Given the description of an element on the screen output the (x, y) to click on. 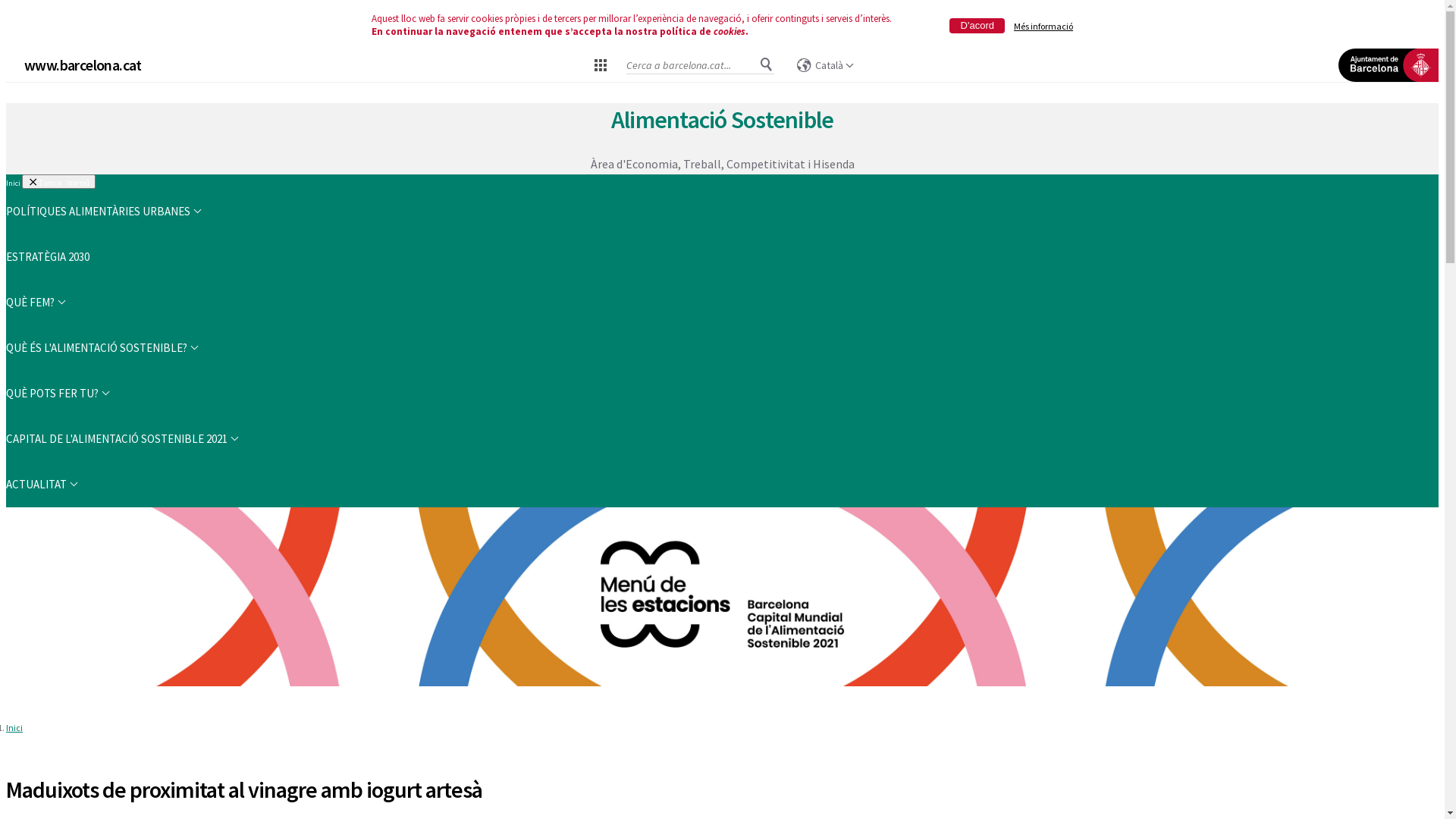
Dreceres de barcelona.cat Element type: hover (600, 64)
cookies Element type: text (729, 31)
Inici Element type: text (13, 183)
www.barcelona.cat Element type: text (82, 64)
Inici Element type: text (14, 727)
D'acord Element type: text (976, 25)
